Given the description of an element on the screen output the (x, y) to click on. 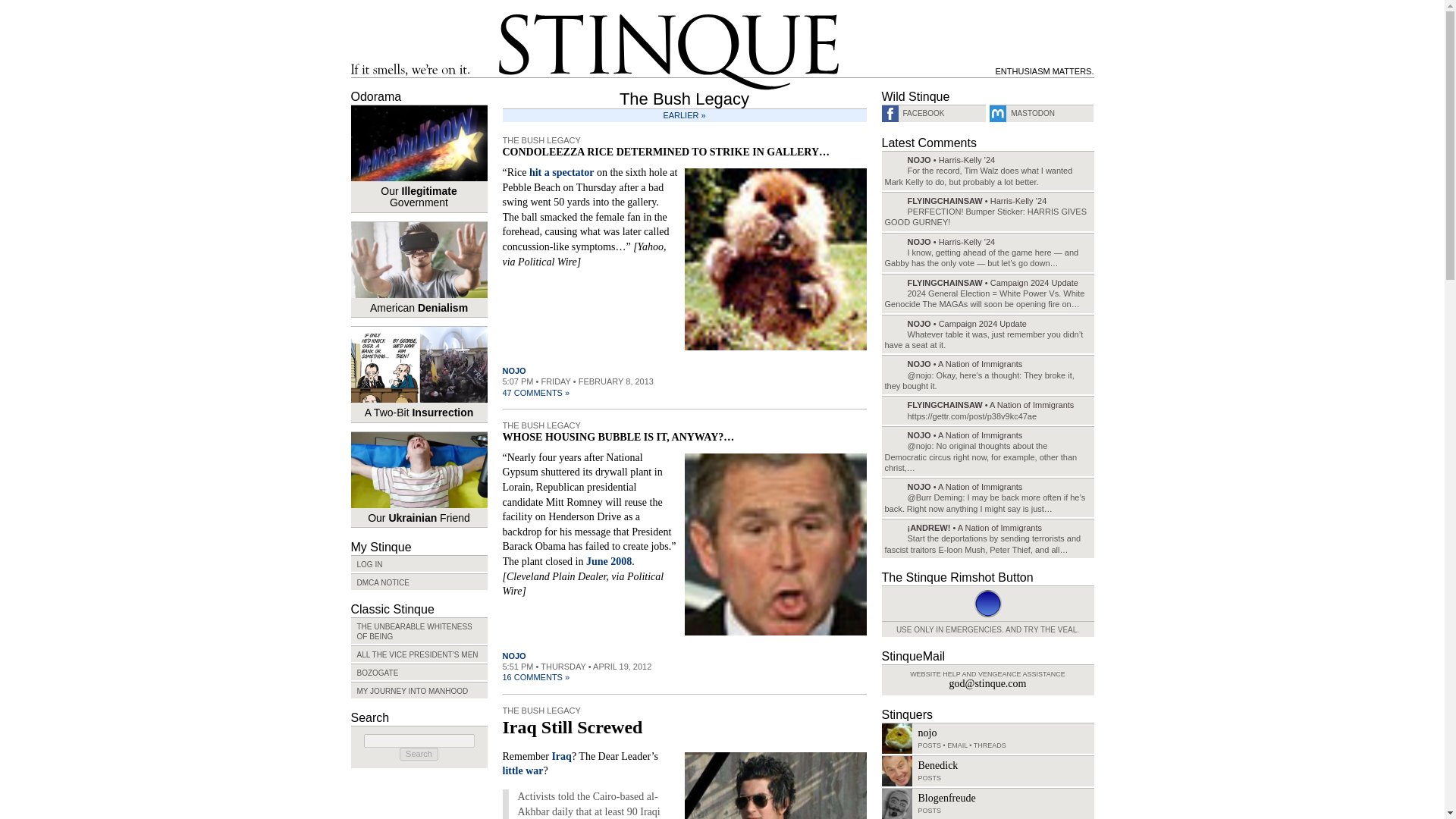
Posts by nojo (513, 370)
THE BUSH LEGACY (540, 424)
June 2008 (608, 561)
hit a spectator (561, 172)
little war (522, 770)
Why you got to gimme a fight? (775, 257)
Stinque (669, 52)
Posts by nojo (513, 655)
Search (418, 753)
NOJO (513, 370)
